Given the description of an element on the screen output the (x, y) to click on. 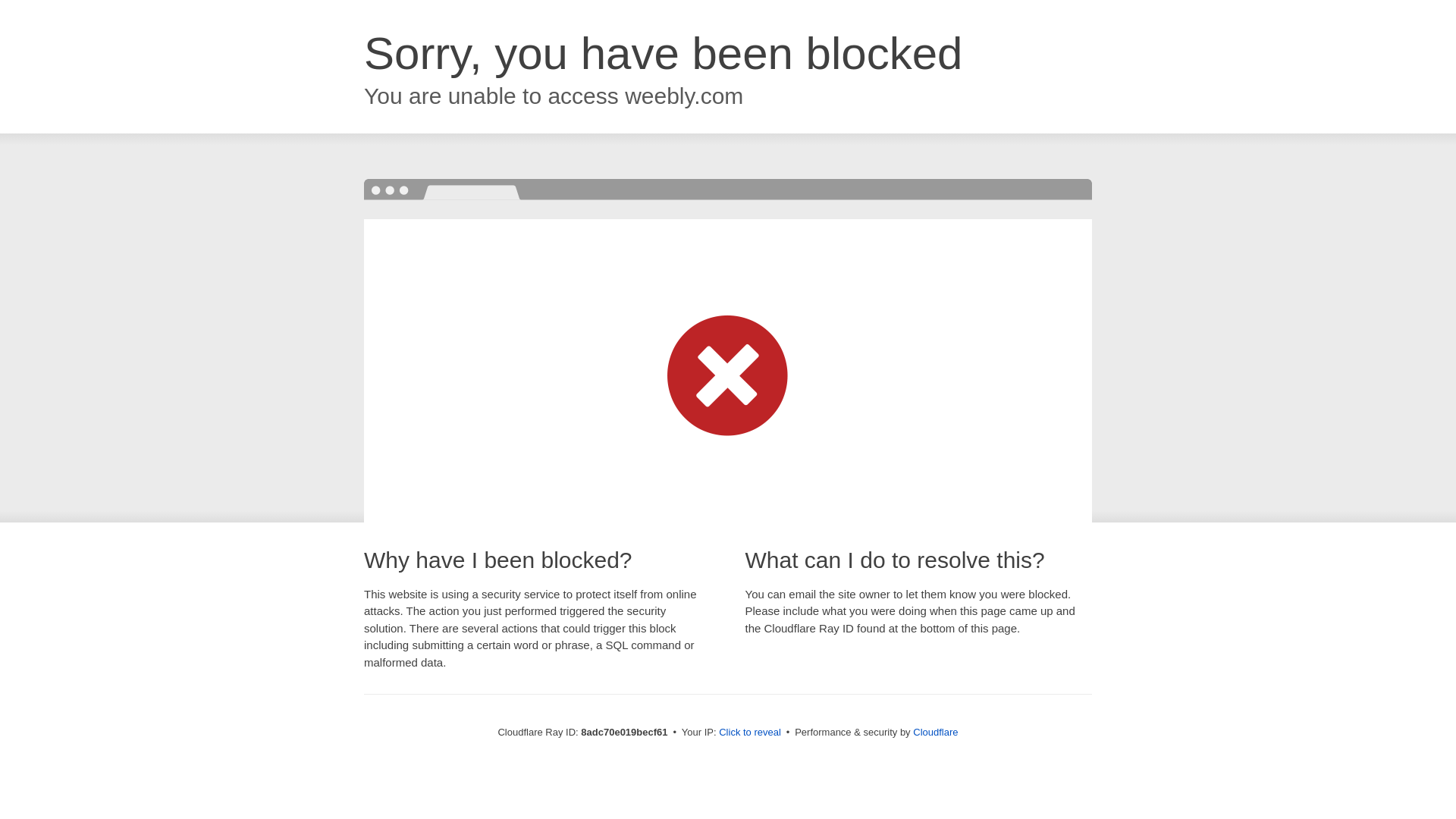
Click to reveal (749, 732)
Cloudflare (935, 731)
